Given the description of an element on the screen output the (x, y) to click on. 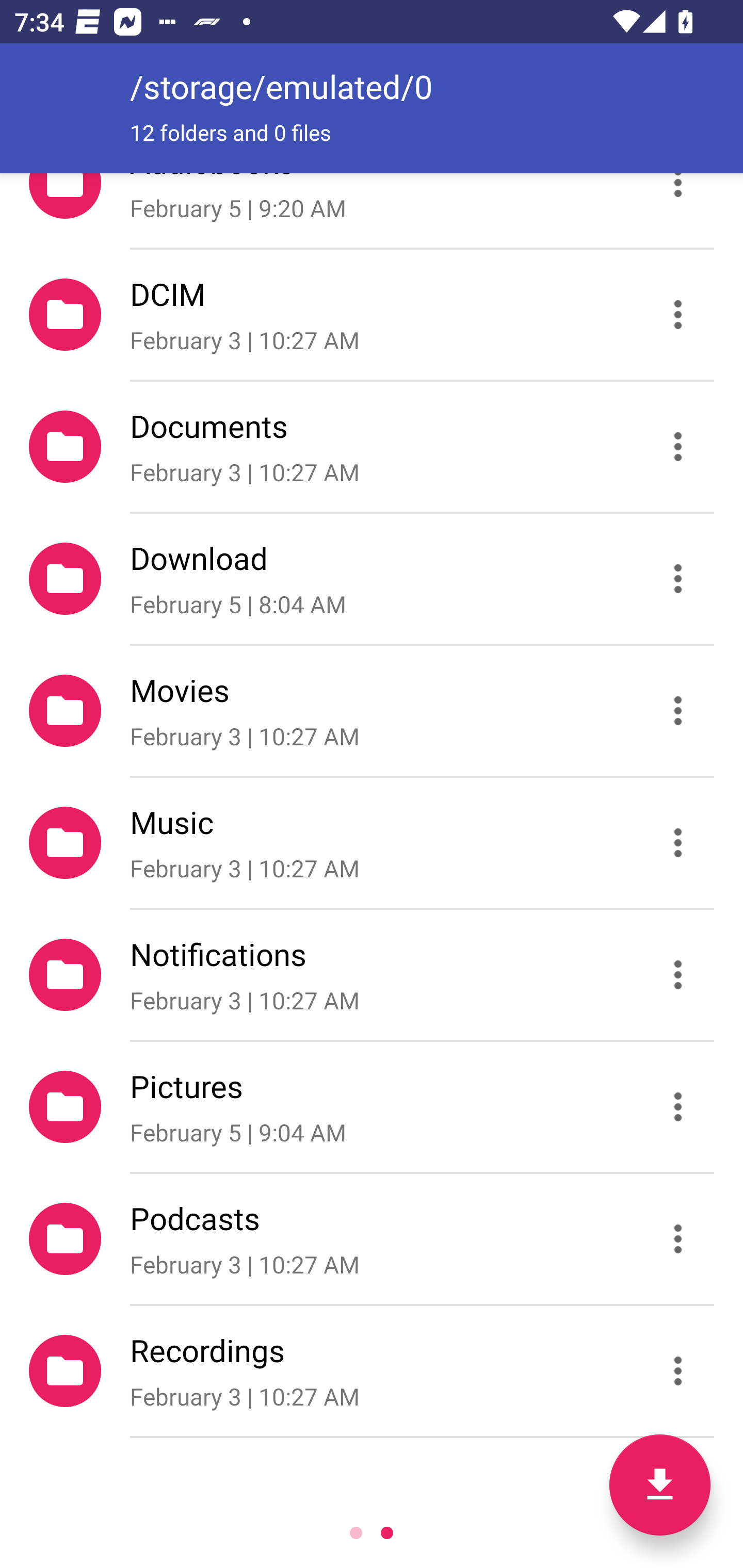
DCIM February 3 | 10:27 AM (371, 314)
Documents February 3 | 10:27 AM (371, 446)
Download February 5 | 8:04 AM (371, 579)
Movies February 3 | 10:27 AM (371, 711)
Music February 3 | 10:27 AM (371, 842)
Notifications February 3 | 10:27 AM (371, 974)
Pictures February 5 | 9:04 AM (371, 1106)
Podcasts February 3 | 10:27 AM (371, 1239)
Recordings February 3 | 10:27 AM (371, 1371)
